Given the description of an element on the screen output the (x, y) to click on. 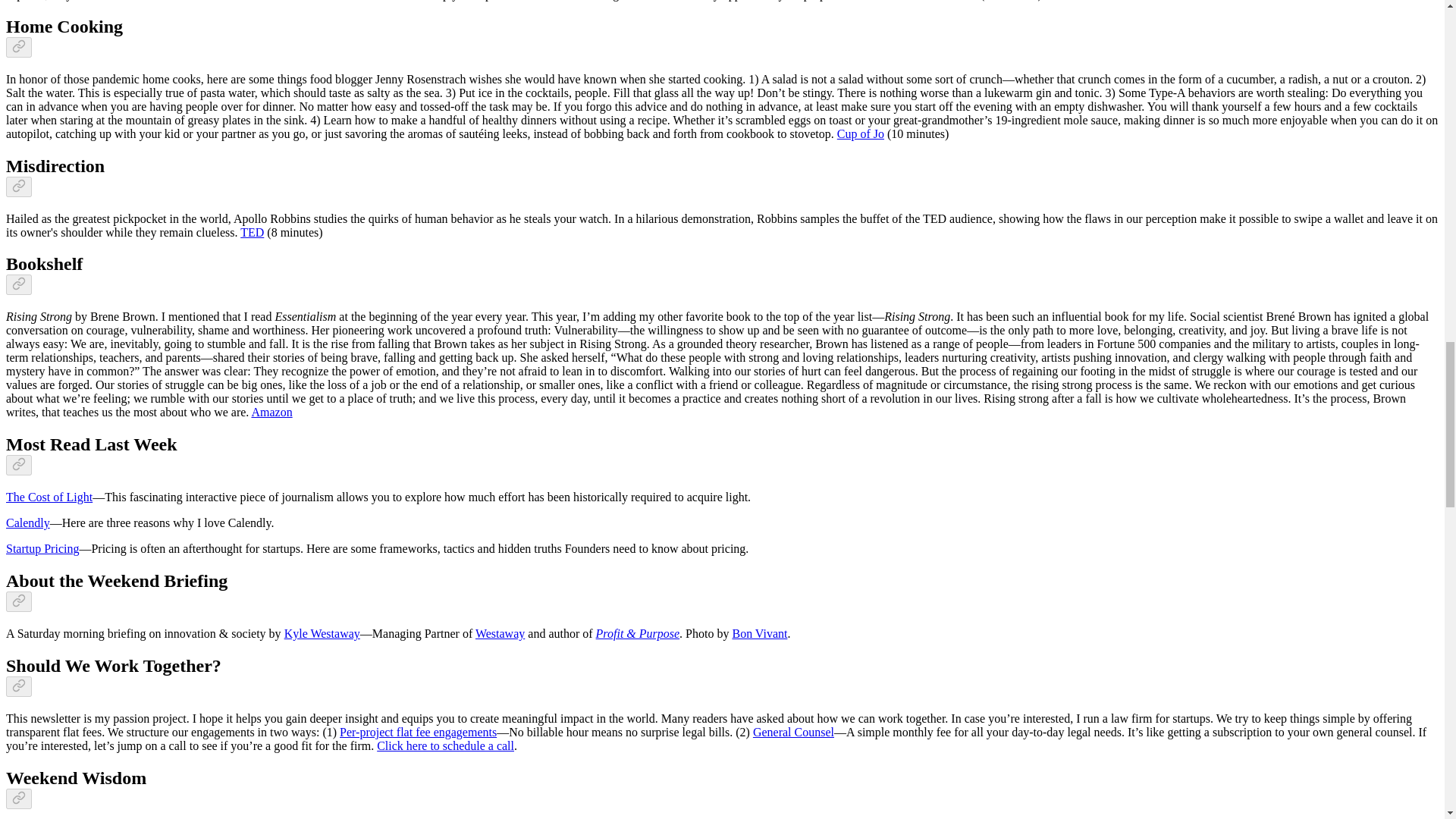
Cup of Jo (860, 133)
